Given the description of an element on the screen output the (x, y) to click on. 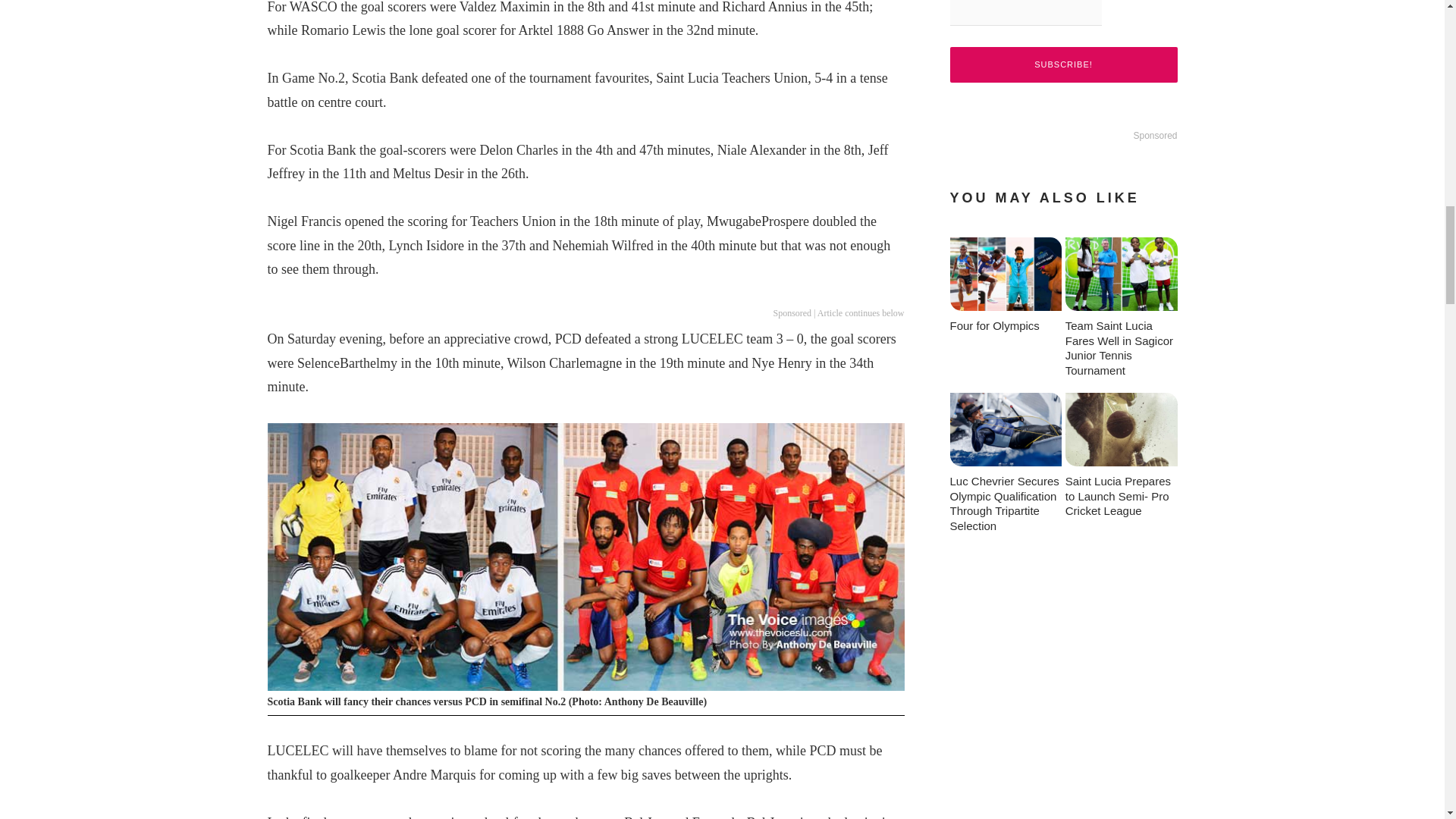
Subscribe! (1062, 64)
